Given the description of an element on the screen output the (x, y) to click on. 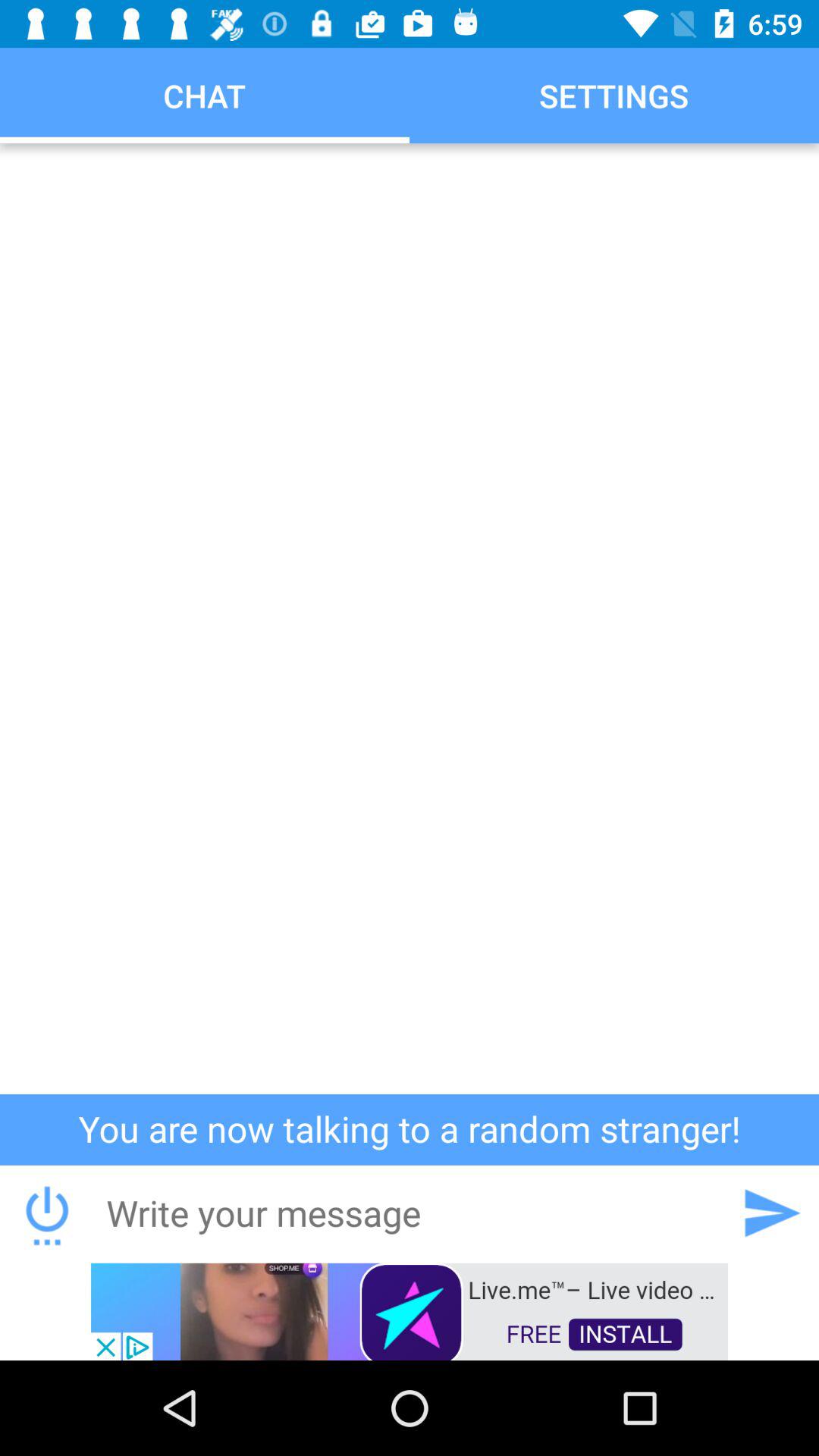
bottom advertisement (409, 1310)
